Given the description of an element on the screen output the (x, y) to click on. 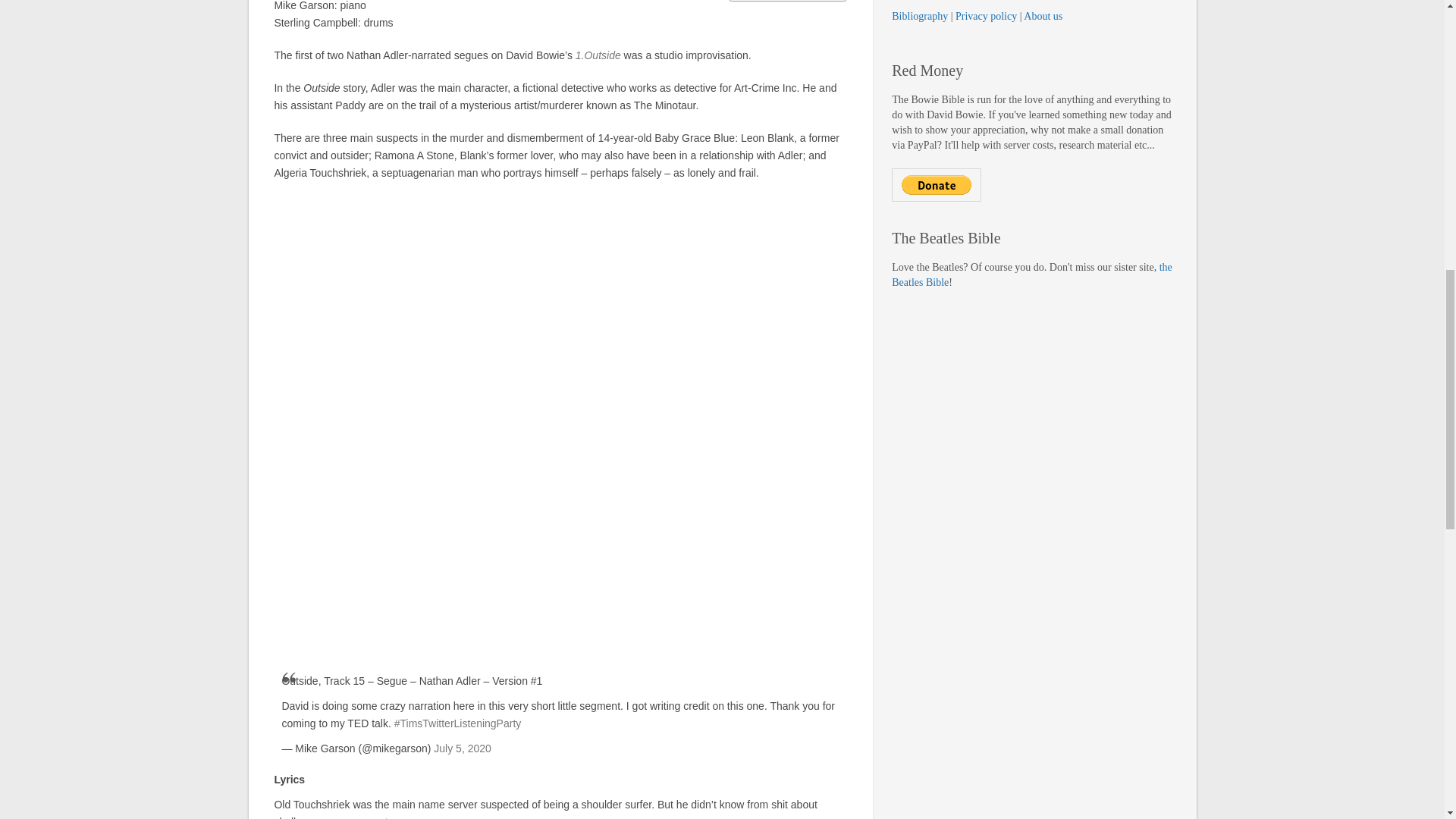
1.Outside (598, 55)
July 5, 2020 (462, 748)
Bibliography (919, 16)
Privacy policy (985, 16)
